Given the description of an element on the screen output the (x, y) to click on. 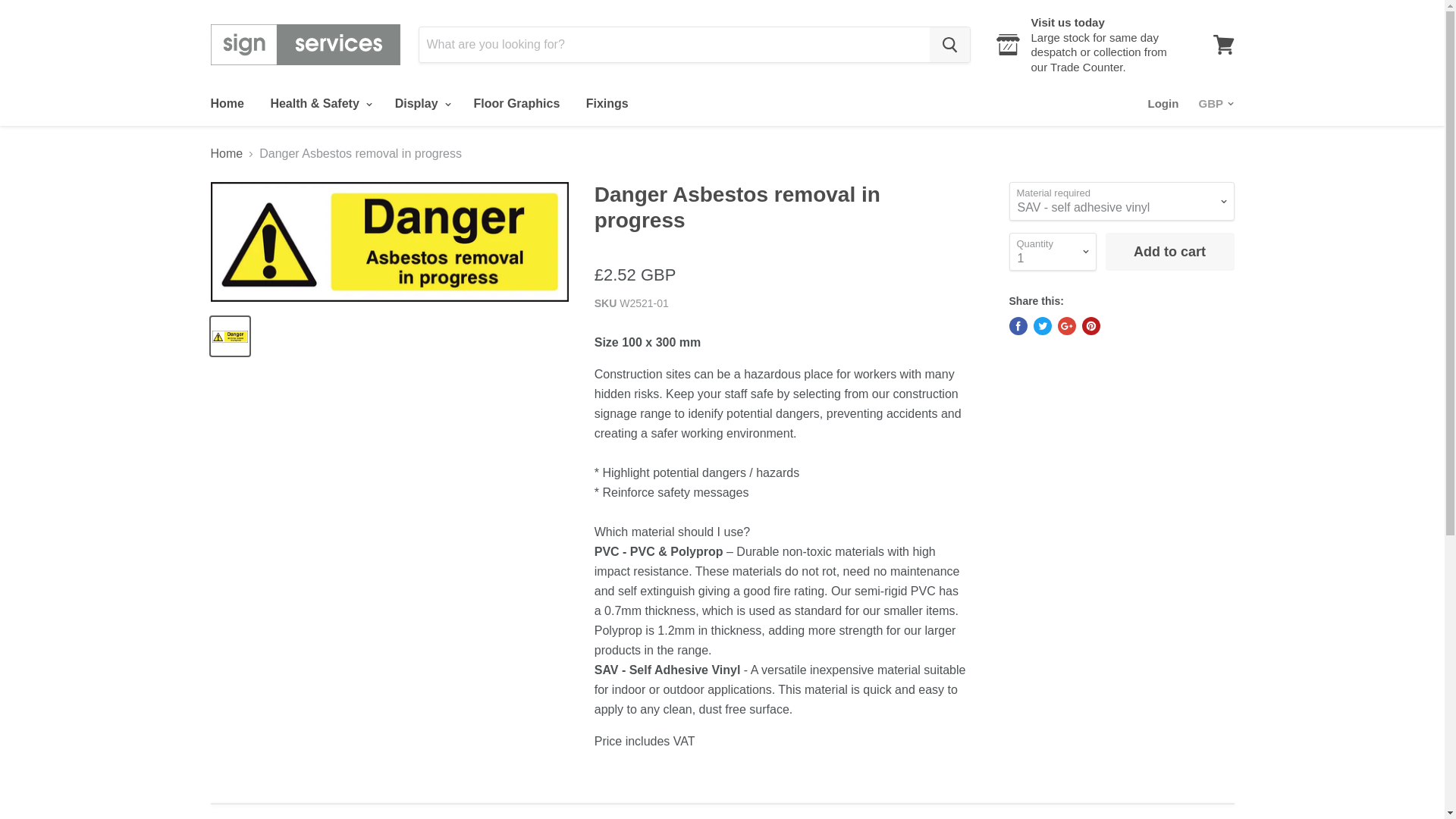
Home (226, 103)
View cart (1223, 44)
